Given the description of an element on the screen output the (x, y) to click on. 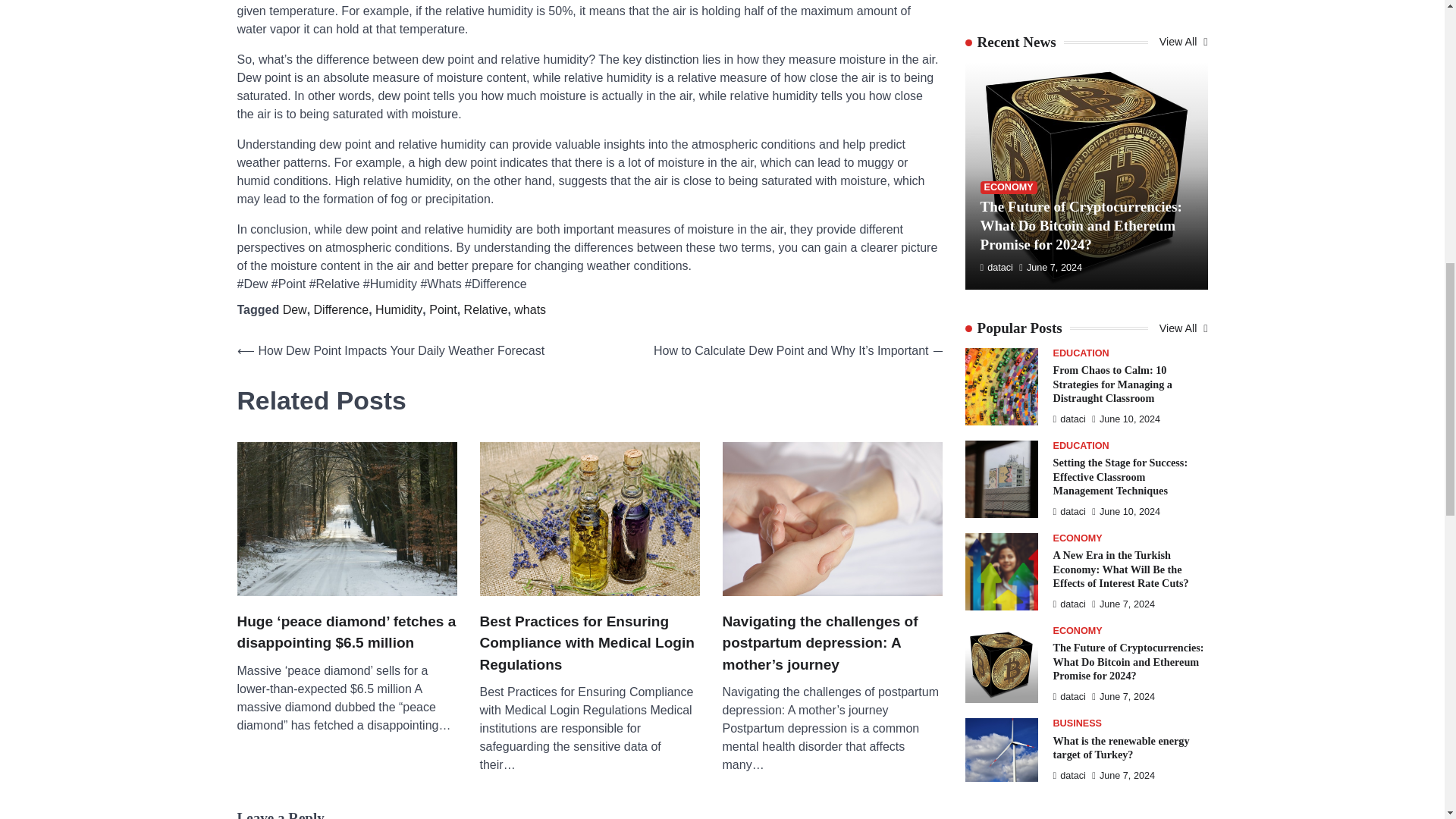
Point (443, 309)
whats (529, 309)
Dew (294, 309)
Difference (341, 309)
Relative (486, 309)
Humidity (398, 309)
